Given the description of an element on the screen output the (x, y) to click on. 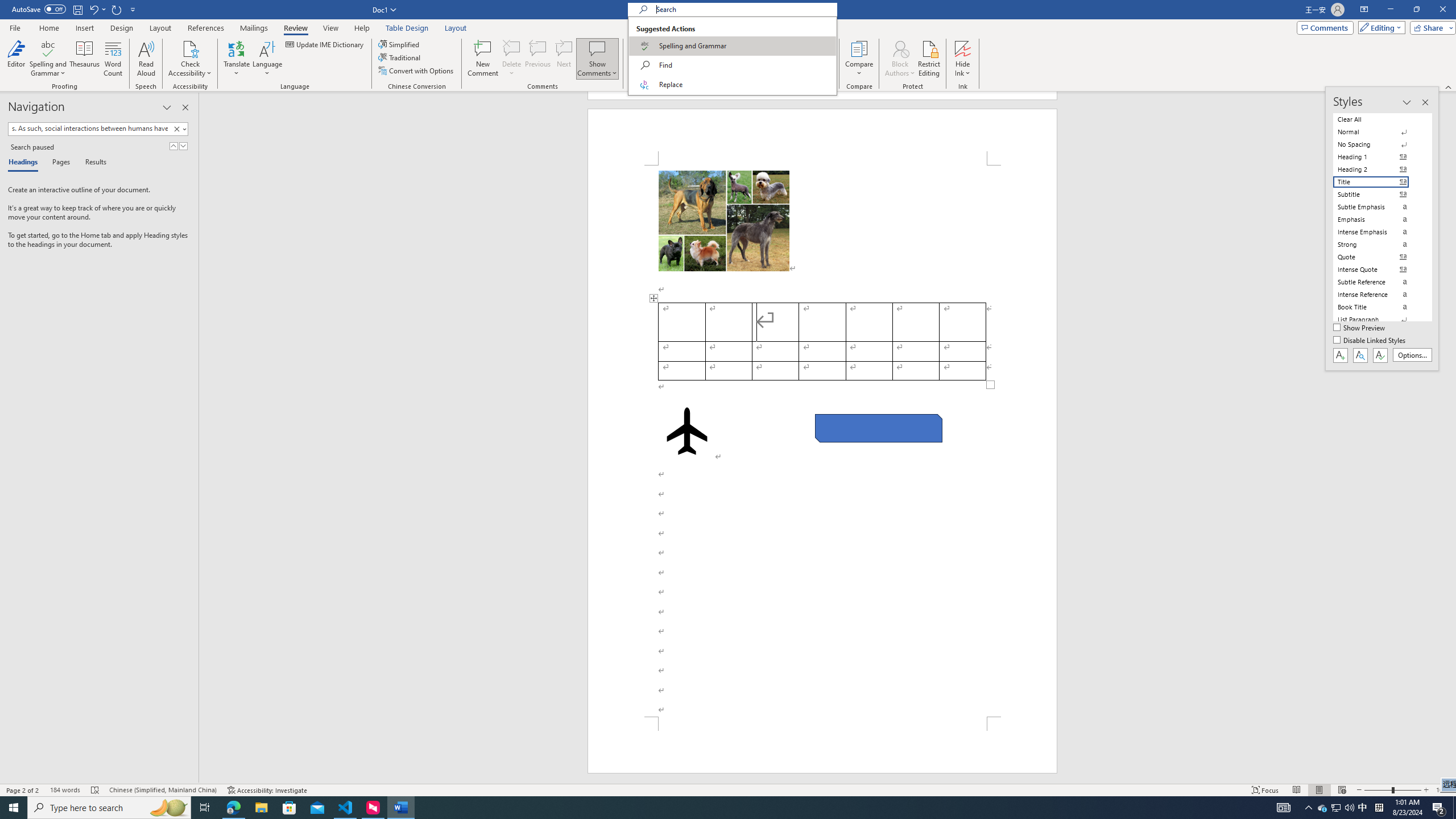
Normal (1377, 131)
Restore Down (1416, 9)
More Options (962, 68)
Reject and Move to Next (780, 48)
Minimize (1390, 9)
Accessibility Checker Accessibility: Investigate (266, 790)
Quick Access Toolbar (74, 9)
Table Design (407, 28)
Share (1430, 27)
Focus  (1265, 790)
Zoom In (1426, 790)
Mailings (253, 28)
Word Count 184 words (64, 790)
Block Authors (900, 48)
